Given the description of an element on the screen output the (x, y) to click on. 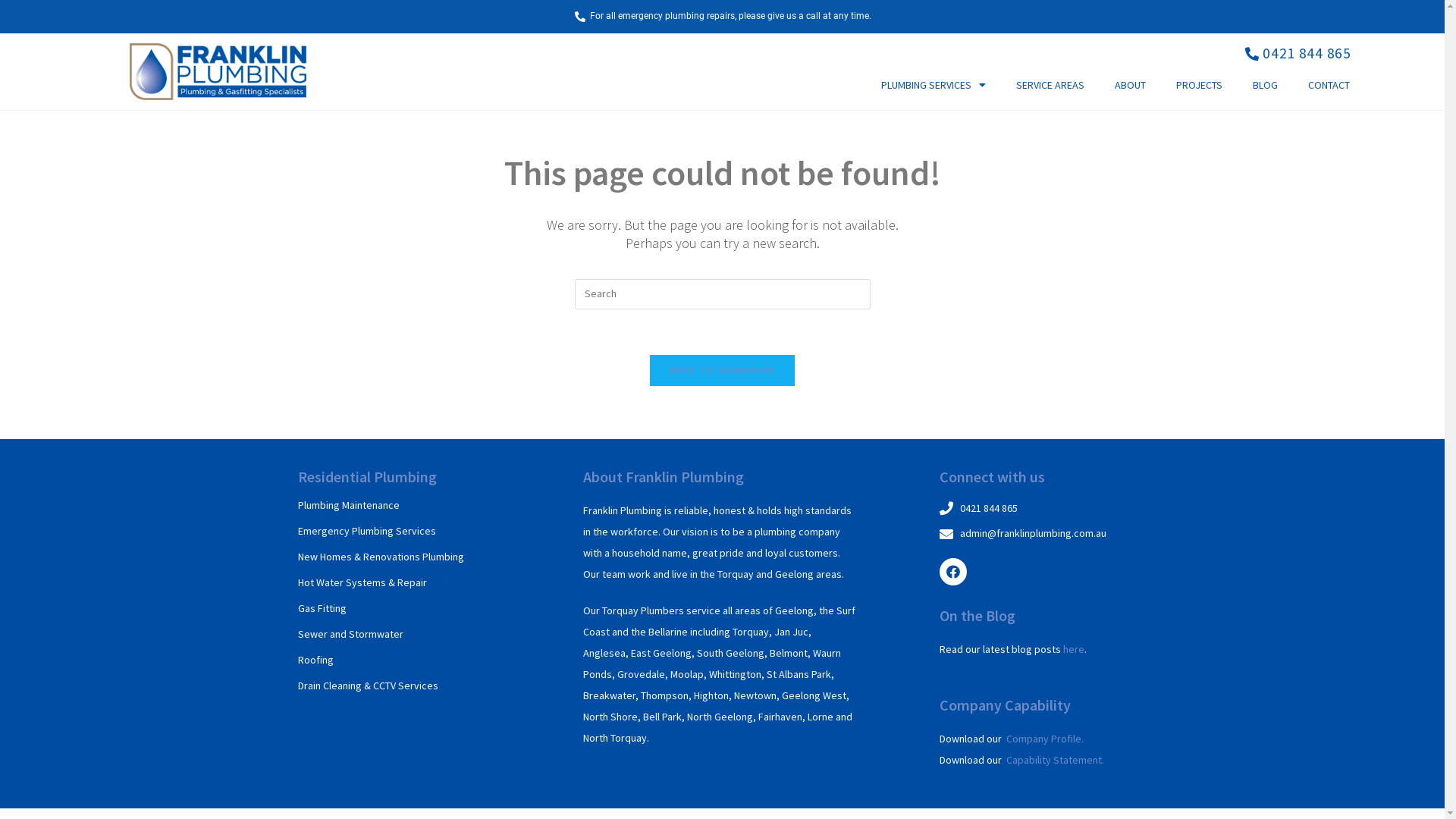
PLUMBING SERVICES Element type: text (933, 84)
here Element type: text (1073, 648)
0421 844 865 Element type: text (1043, 508)
0421 844 865 Element type: text (1296, 53)
Roofing Element type: text (314, 659)
Capability Statement. Element type: text (1055, 759)
SERVICE AREAS Element type: text (1050, 84)
PROJECTS Element type: text (1199, 84)
Gas Fitting Element type: text (321, 608)
Company Profile. Element type: text (1044, 738)
Hot Water Systems & Repair Element type: text (361, 582)
Emergency Plumbing Services Element type: text (366, 530)
BACK TO HOMEPAGE Element type: text (722, 369)
Drain Cleaning & CCTV Services Element type: text (367, 685)
admin@franklinplumbing.com.au Element type: text (1043, 533)
New Homes & Renovations Plumbing Element type: text (380, 556)
CONTACT Element type: text (1328, 84)
BLOG Element type: text (1264, 84)
ABOUT Element type: text (1130, 84)
Sewer and Stormwater Element type: text (349, 633)
Plumbing Maintenance Element type: text (347, 504)
